Given the description of an element on the screen output the (x, y) to click on. 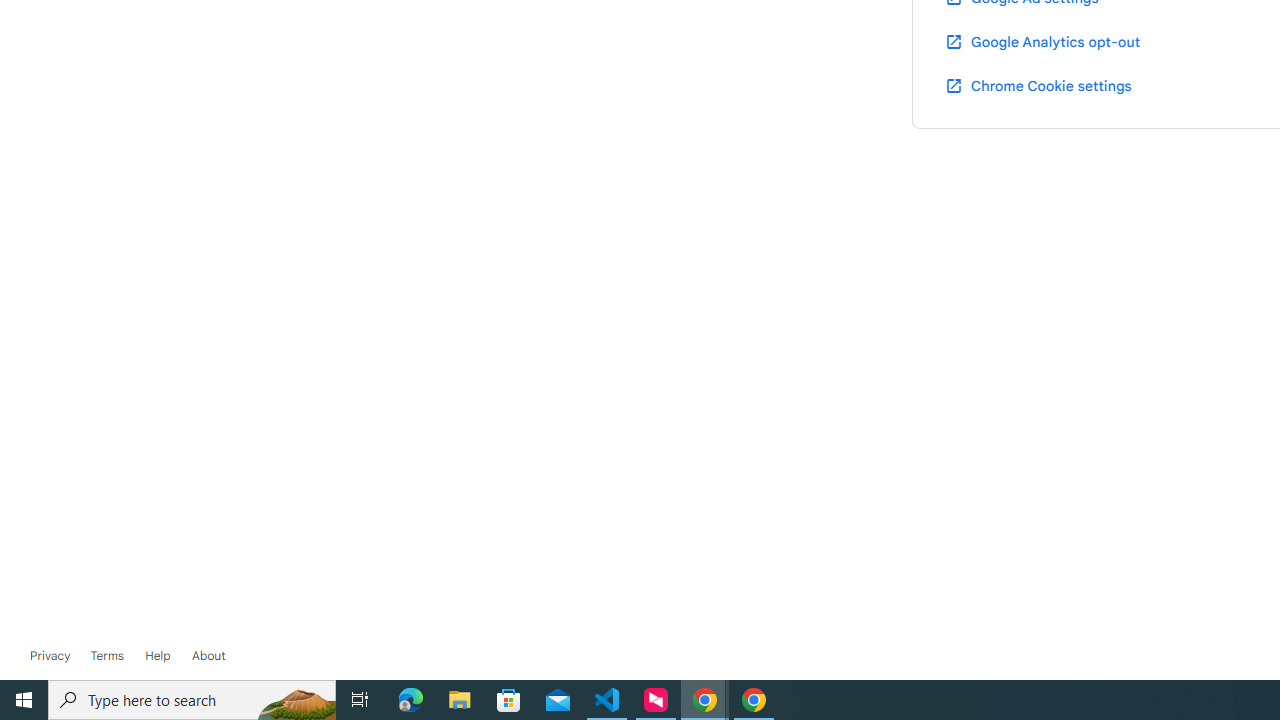
Google Analytics opt-out (1041, 41)
Chrome Cookie settings (1037, 85)
Learn more about Google Account (208, 655)
